Given the description of an element on the screen output the (x, y) to click on. 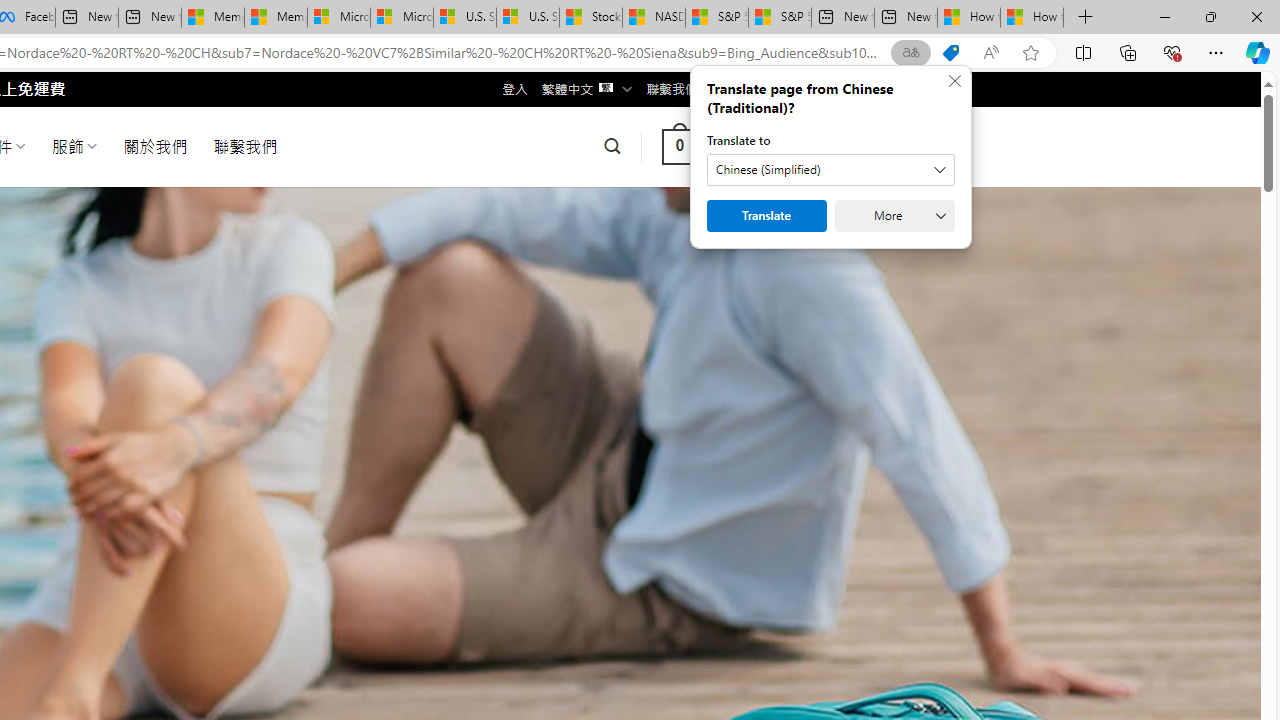
Minimize (1164, 16)
 0  (679, 146)
Restore (1210, 16)
Copilot (Ctrl+Shift+.) (1258, 52)
Translate (766, 215)
Collections (1128, 52)
How to Use a Monitor With Your Closed Laptop (1032, 17)
Close (1256, 16)
